Given the description of an element on the screen output the (x, y) to click on. 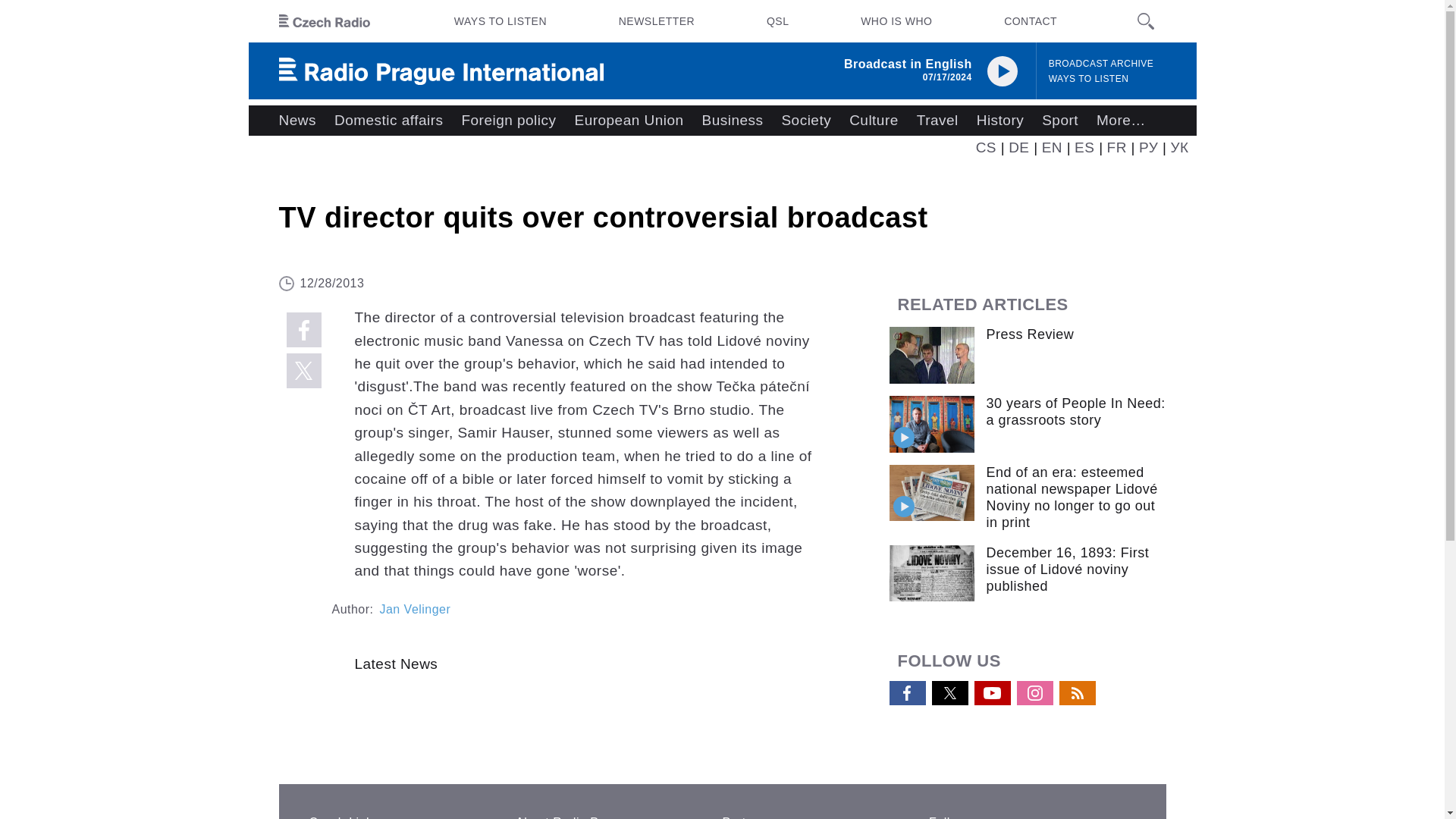
Domestic affairs (388, 120)
ES (1084, 147)
WAYS TO LISTEN (500, 21)
EN (1052, 147)
Business (733, 120)
WHO IS WHO (896, 21)
QSL (777, 21)
Culture (873, 120)
DE (1019, 147)
News (296, 120)
History (1000, 120)
FR (1116, 147)
NEWSLETTER (656, 21)
Broadcast in English  (908, 63)
Travel (937, 120)
